Given the description of an element on the screen output the (x, y) to click on. 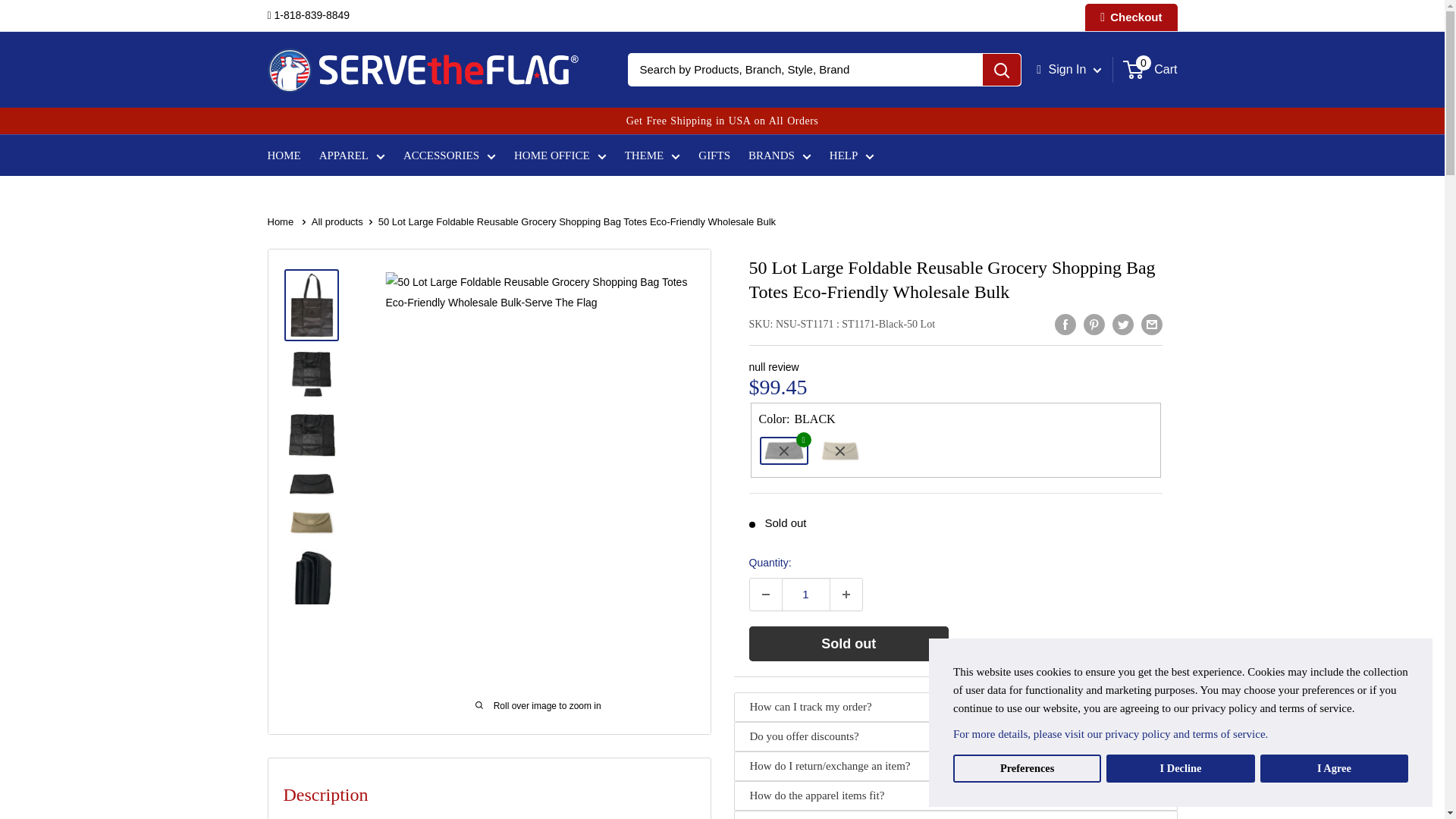
1 (804, 594)
Checkout (1130, 17)
1-818-839-8849 (307, 15)
Increase quantity by 1 (845, 594)
Decrease quantity by 1 (764, 594)
